Given the description of an element on the screen output the (x, y) to click on. 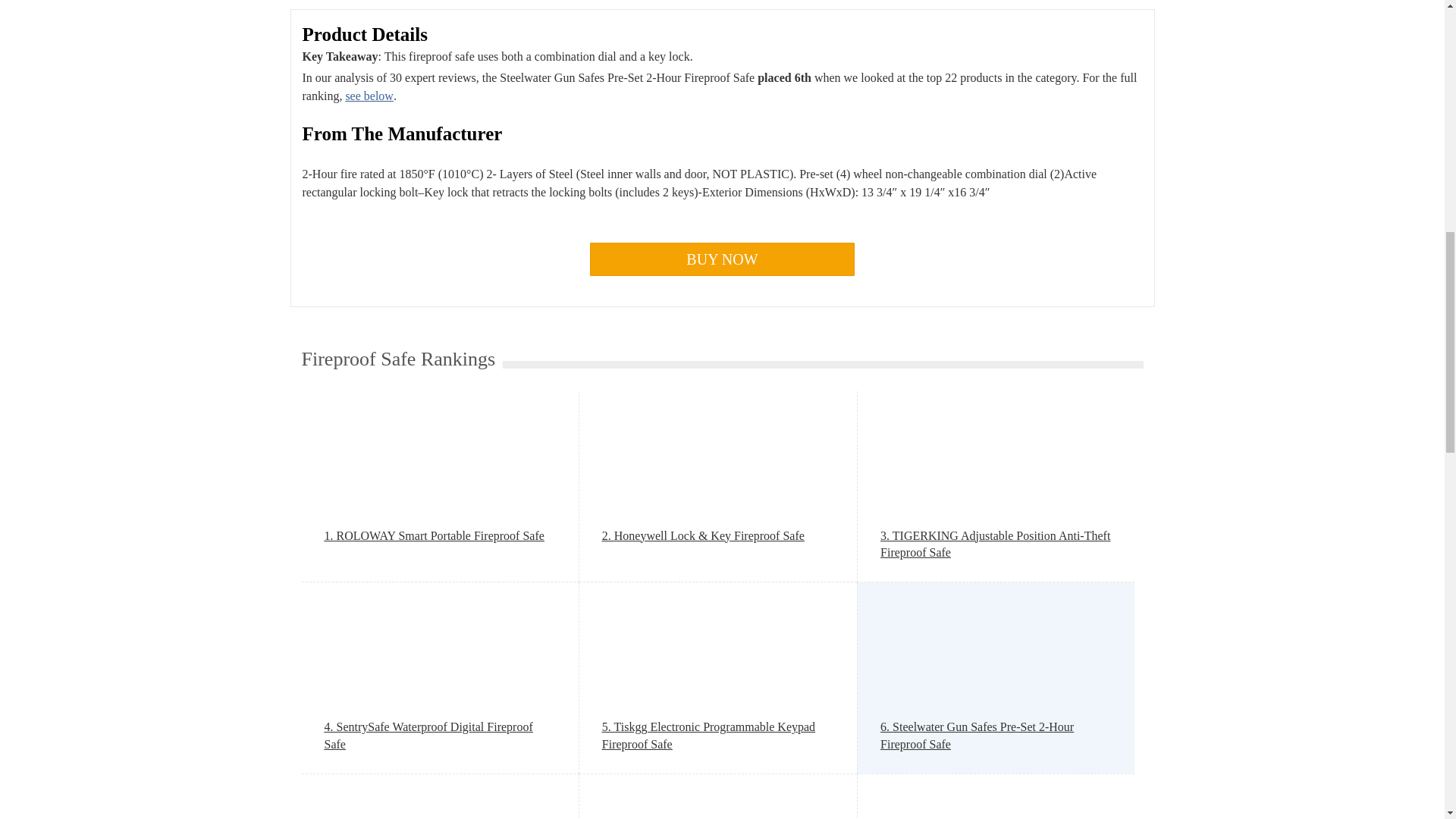
1. ROLOWAY Smart Portable Fireproof Safe (440, 535)
BUY NOW (721, 259)
see below (369, 95)
